Given the description of an element on the screen output the (x, y) to click on. 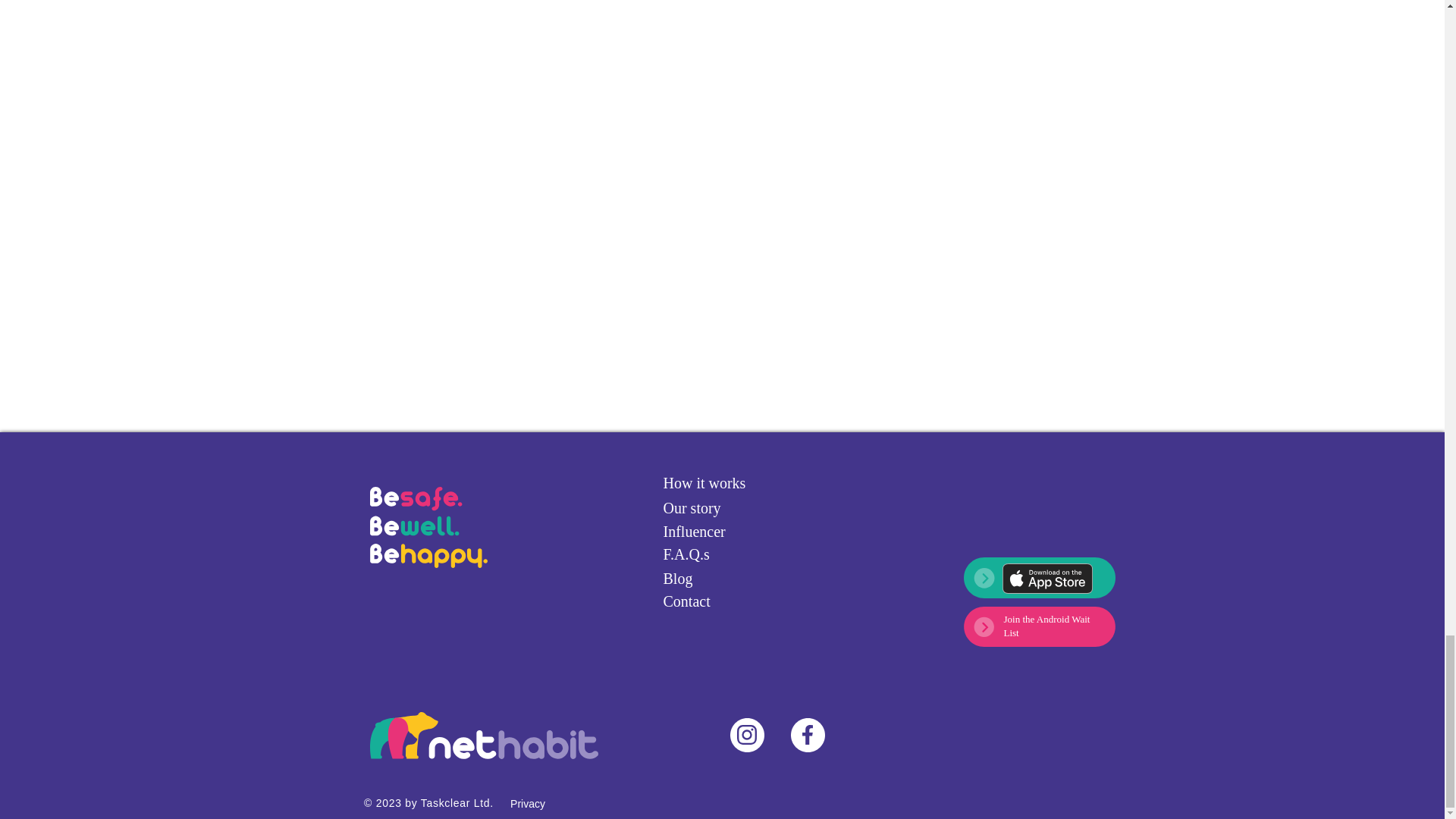
Blog (716, 578)
How it works (716, 482)
Influencer (716, 531)
Our story (716, 508)
F.A.Q.s (716, 553)
